Given the description of an element on the screen output the (x, y) to click on. 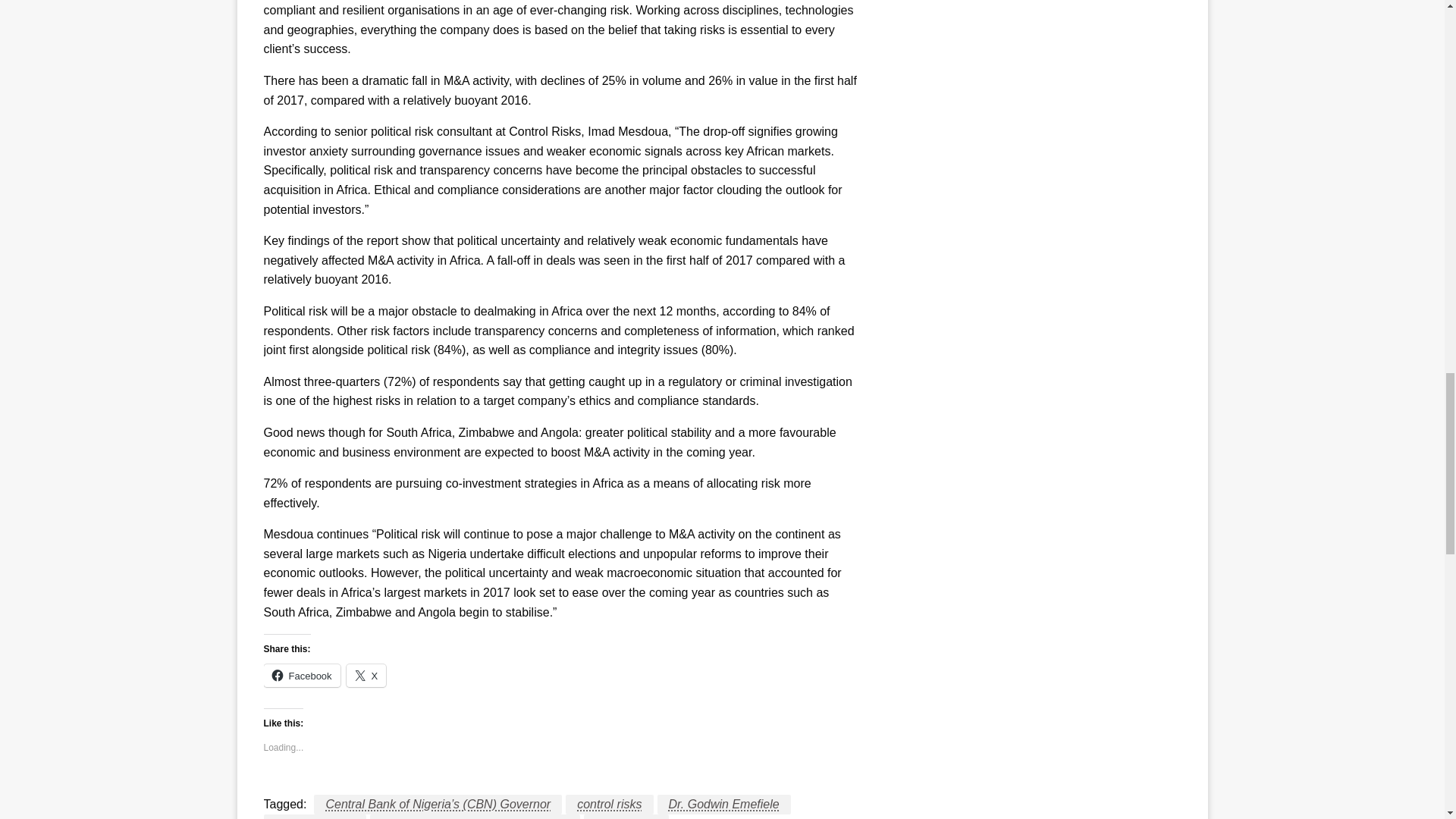
Click to share on X (366, 675)
X (366, 675)
Click to share on Facebook (301, 675)
Facebook (301, 675)
